Given the description of an element on the screen output the (x, y) to click on. 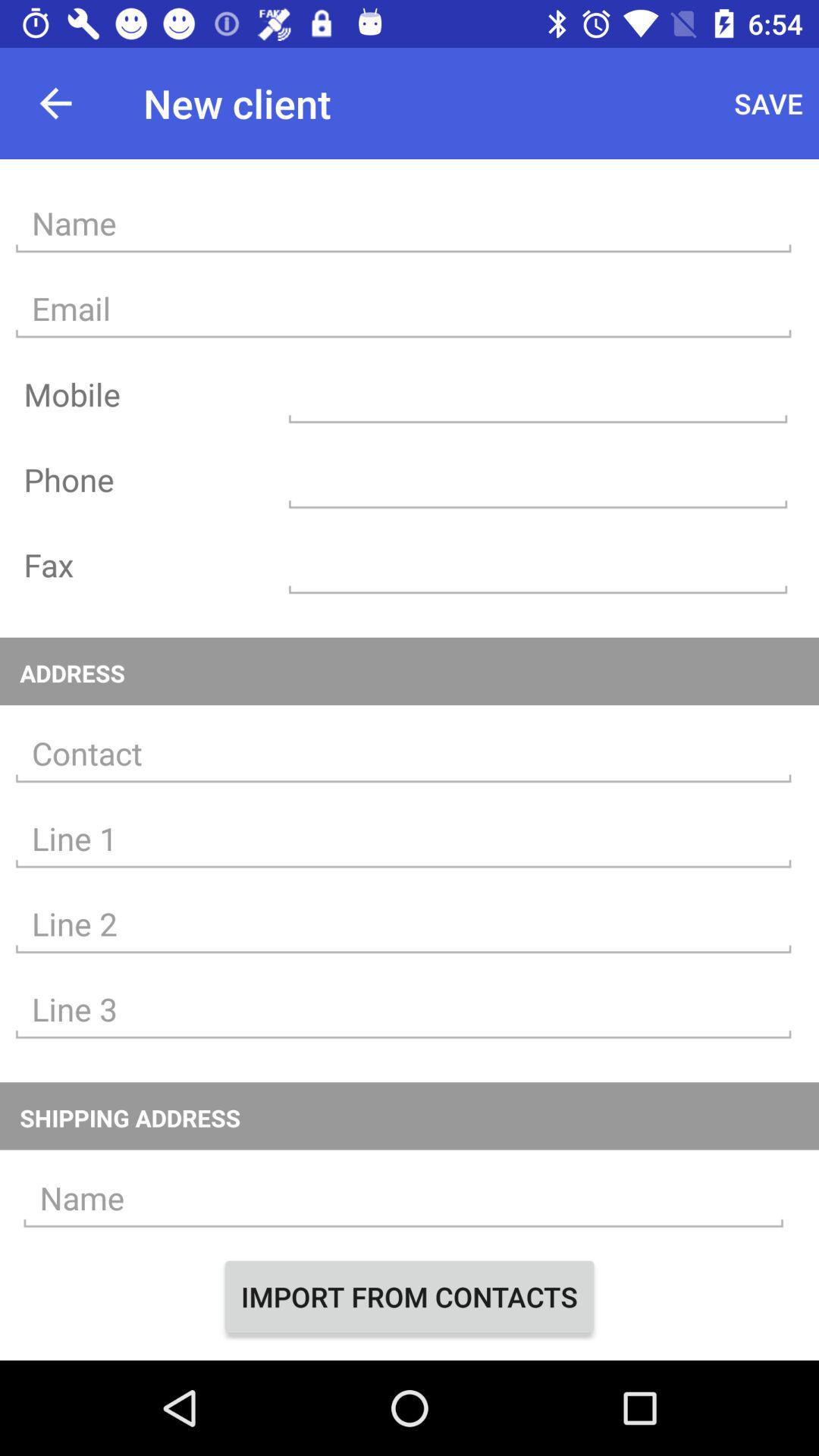
launch icon below the address icon (403, 753)
